Given the description of an element on the screen output the (x, y) to click on. 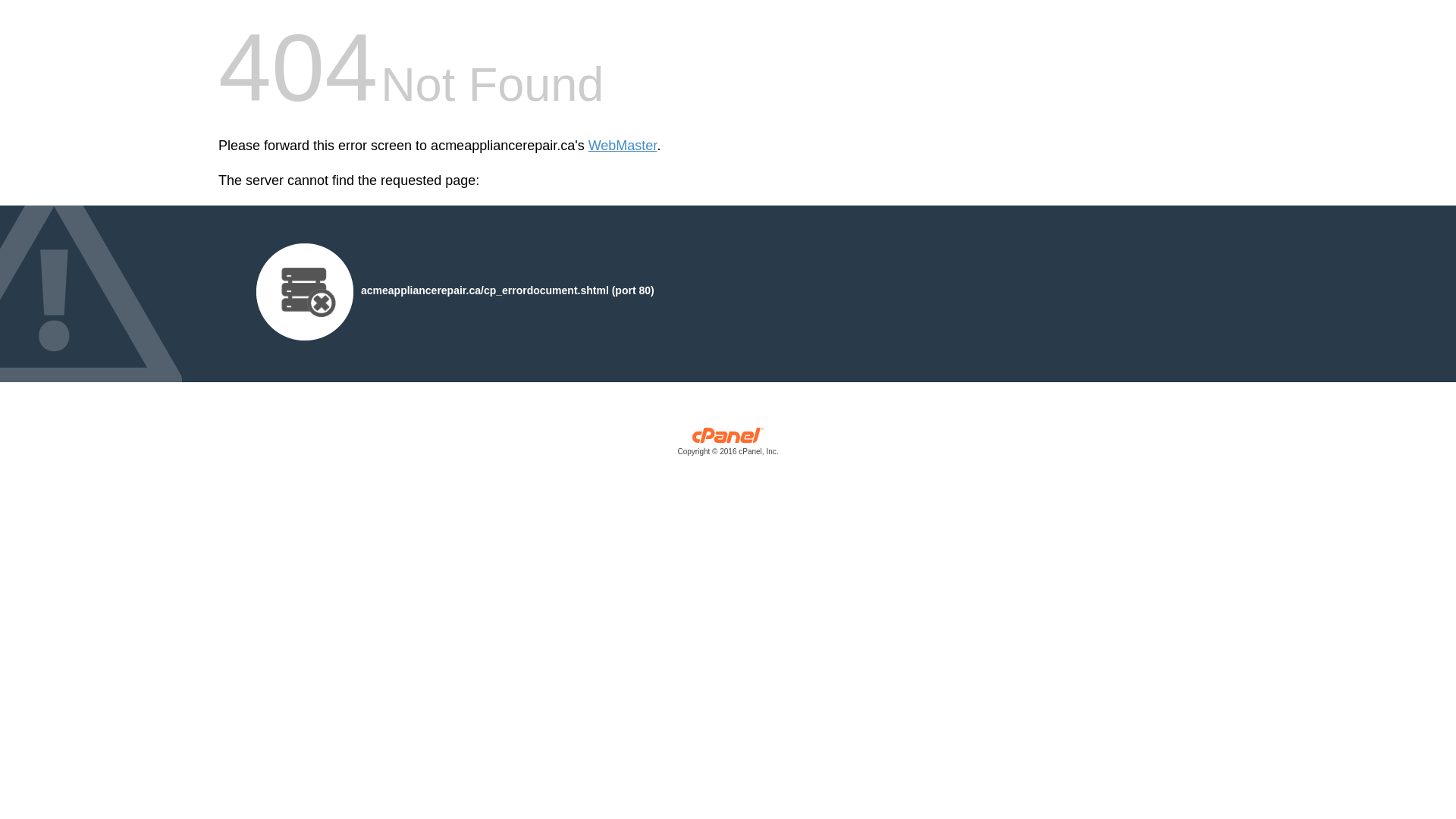
WebMaster Element type: text (622, 145)
